Given the description of an element on the screen output the (x, y) to click on. 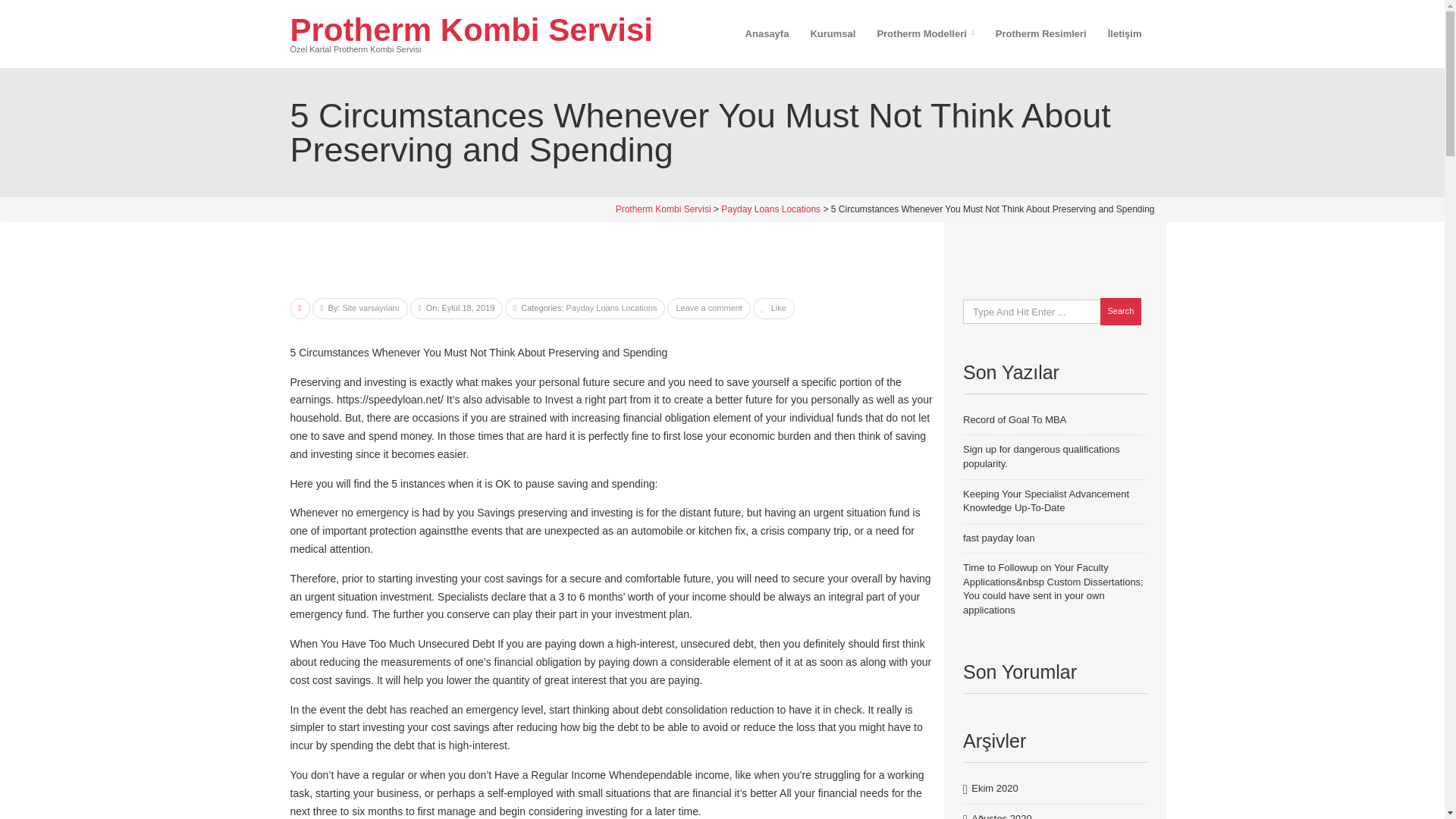
Payday Loans Locations (770, 208)
Like (773, 307)
Go to the Payday Loans Locations category archives. (770, 208)
Keeping Your Specialist Advancement Knowledge Up-To-Date (1045, 501)
Search (1120, 311)
Protherm Modelleri (925, 33)
Leave a comment (708, 307)
Go to Protherm Kombi Servisi. (663, 208)
 Like (773, 307)
Payday Loans Locations (612, 307)
Protherm Kombi Servisi (663, 208)
Record of Goal To MBA (1013, 419)
Kurumsal (832, 33)
Ekim 2020 (994, 789)
fast payday loan (998, 537)
